Given the description of an element on the screen output the (x, y) to click on. 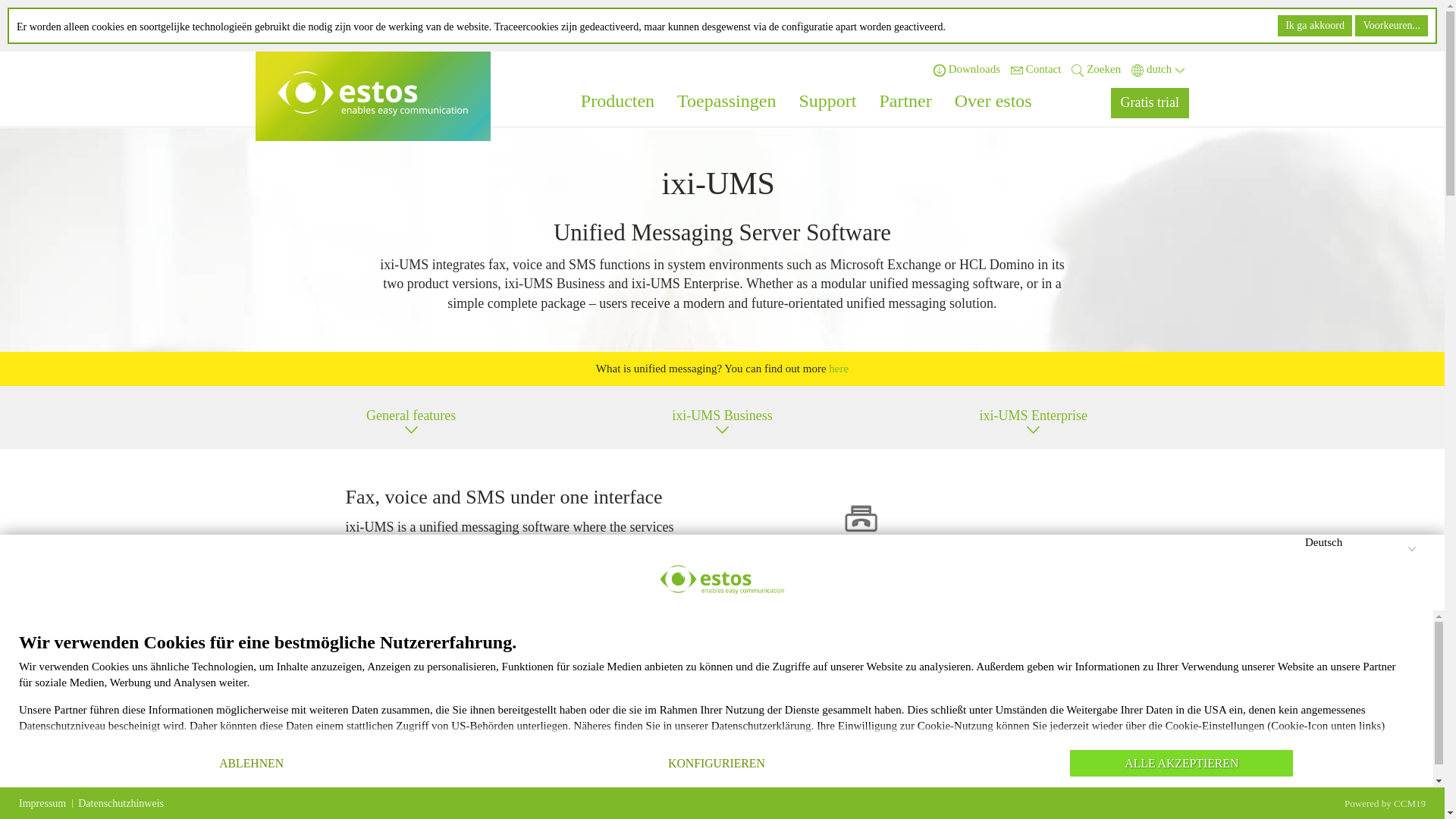
Downloads (966, 69)
Voorkeuren... (1391, 25)
Contact (1035, 69)
Producten (617, 97)
Zoeken (1096, 69)
Ik ga akkoord (1315, 25)
estos GmbH (373, 93)
Toepassingen (726, 97)
